Given the description of an element on the screen output the (x, y) to click on. 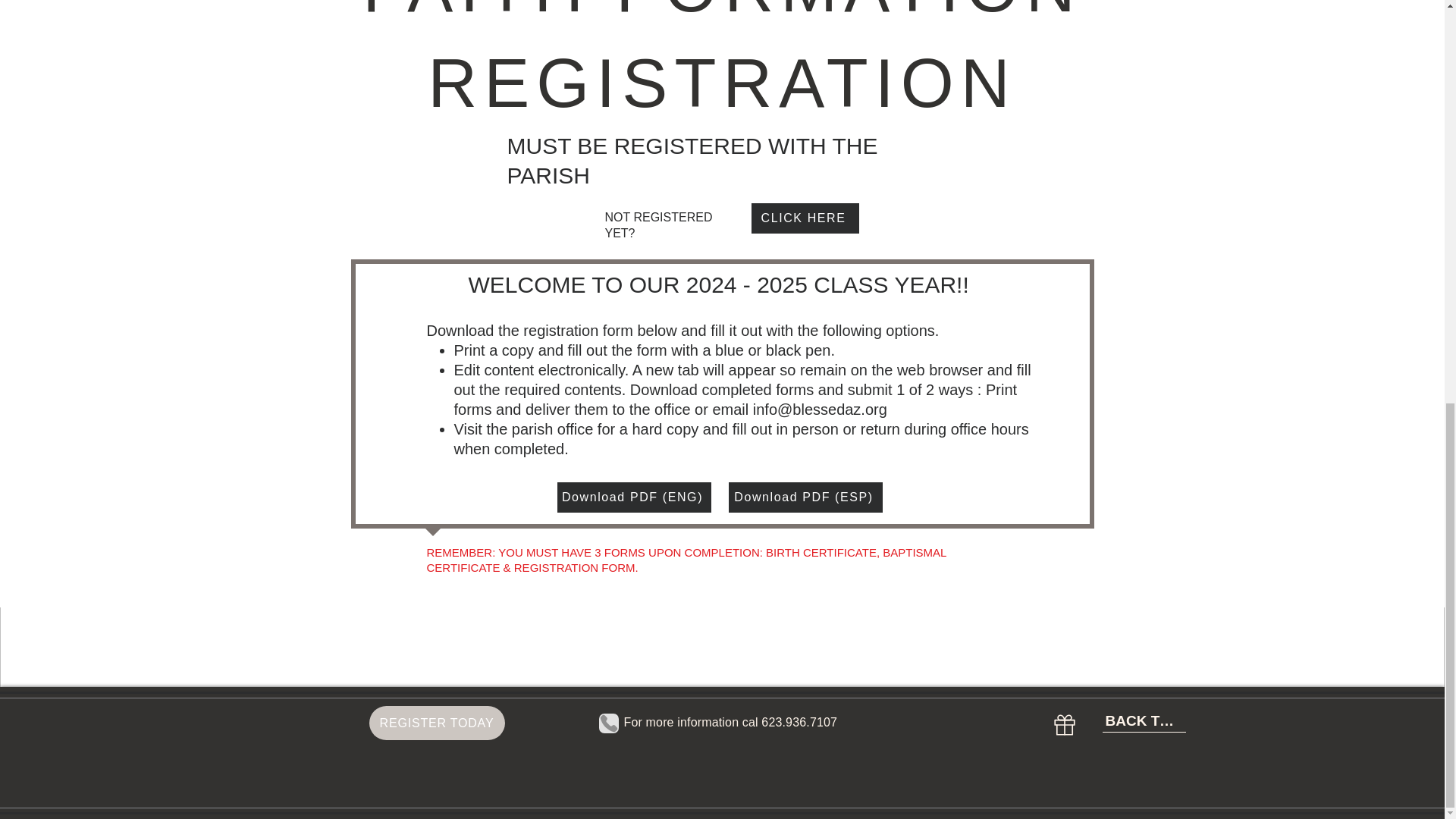
REGISTER TODAY (435, 722)
BACK TO TOP (1144, 721)
CLICK HERE (805, 218)
